Given the description of an element on the screen output the (x, y) to click on. 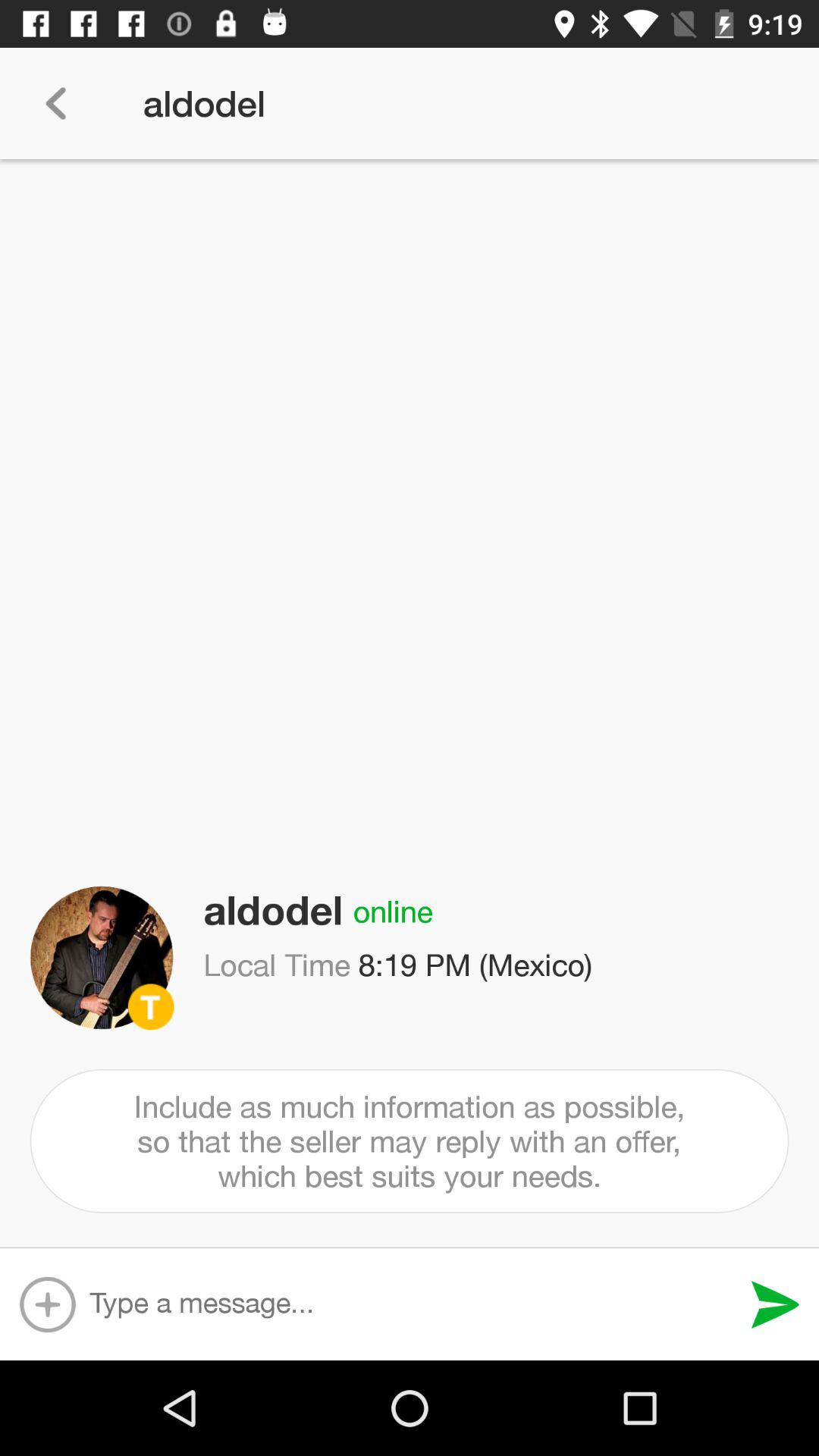
launch icon next to aldodel (55, 103)
